Given the description of an element on the screen output the (x, y) to click on. 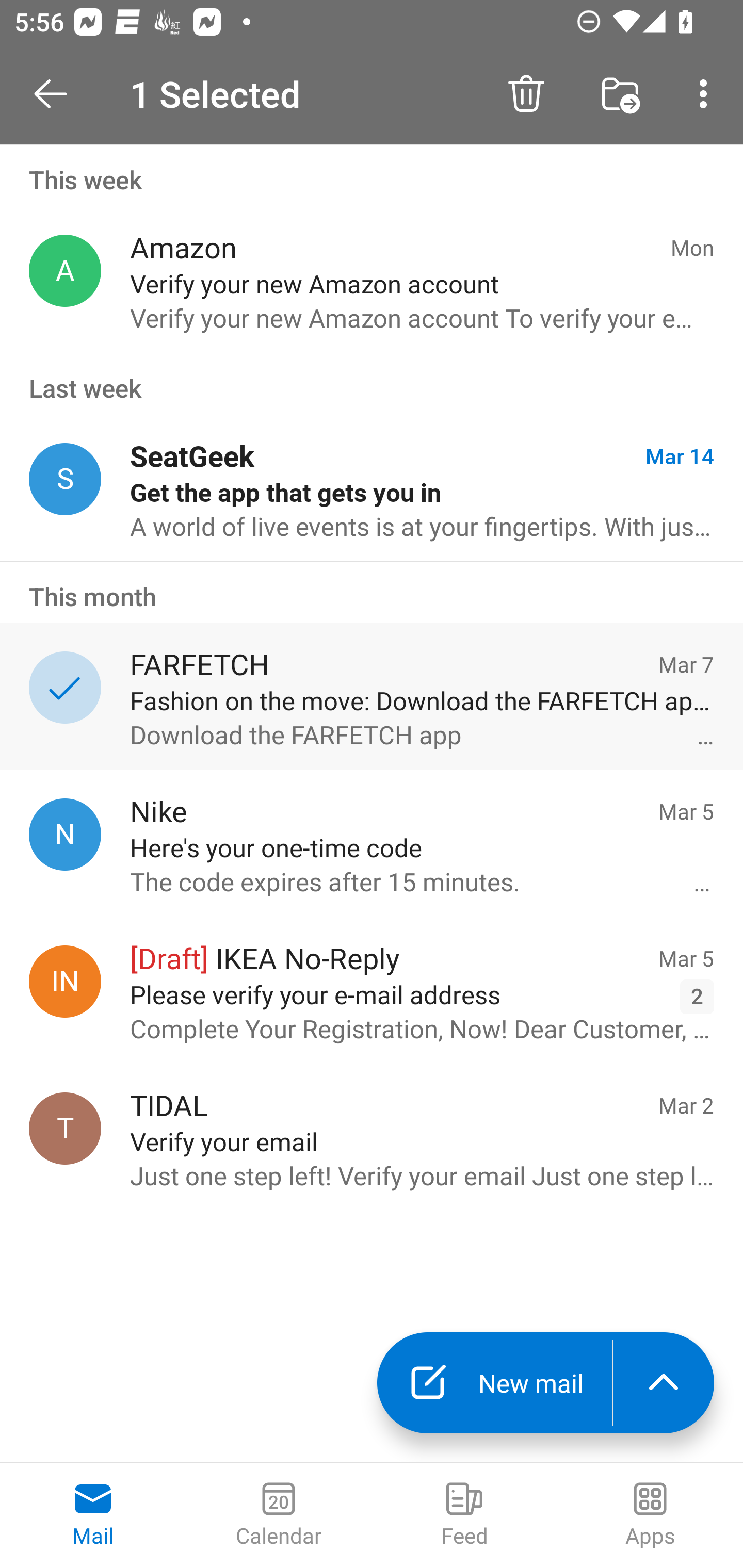
Delete (525, 93)
Empty Deleted (612, 93)
Search, ,  (699, 93)
Open Navigation Drawer (57, 94)
Amazon, account-update@amazon.com (64, 271)
SeatGeek, events@seatgeek.com (64, 479)
Nike, nike@notifications.nike.com (64, 834)
IKEA No-Reply, noreply@ikea.com.hk (64, 981)
TIDAL, account@info.tidal.com (64, 1128)
New mail (494, 1382)
launch the extended action menu (663, 1382)
Calendar (278, 1515)
Feed (464, 1515)
Apps (650, 1515)
